Given the description of an element on the screen output the (x, y) to click on. 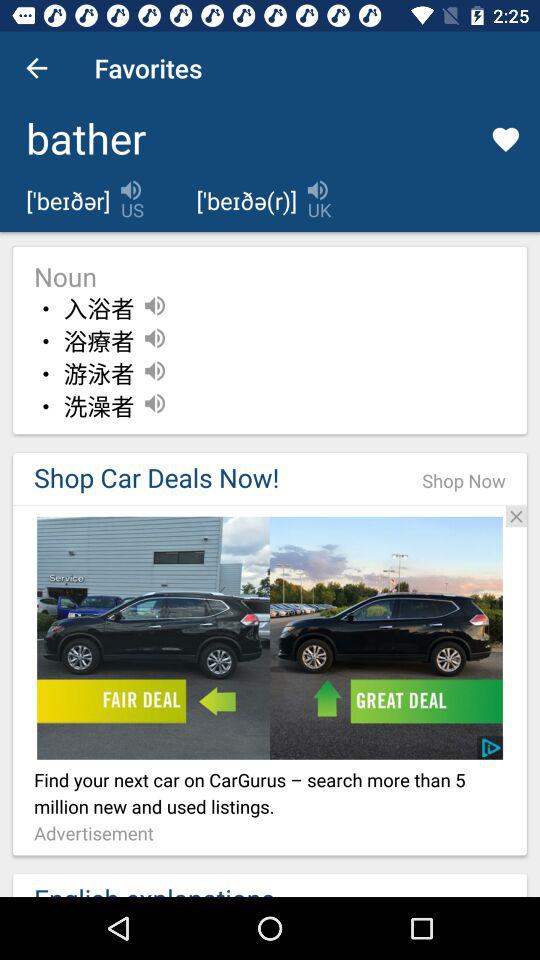
open advertisement (269, 505)
